Given the description of an element on the screen output the (x, y) to click on. 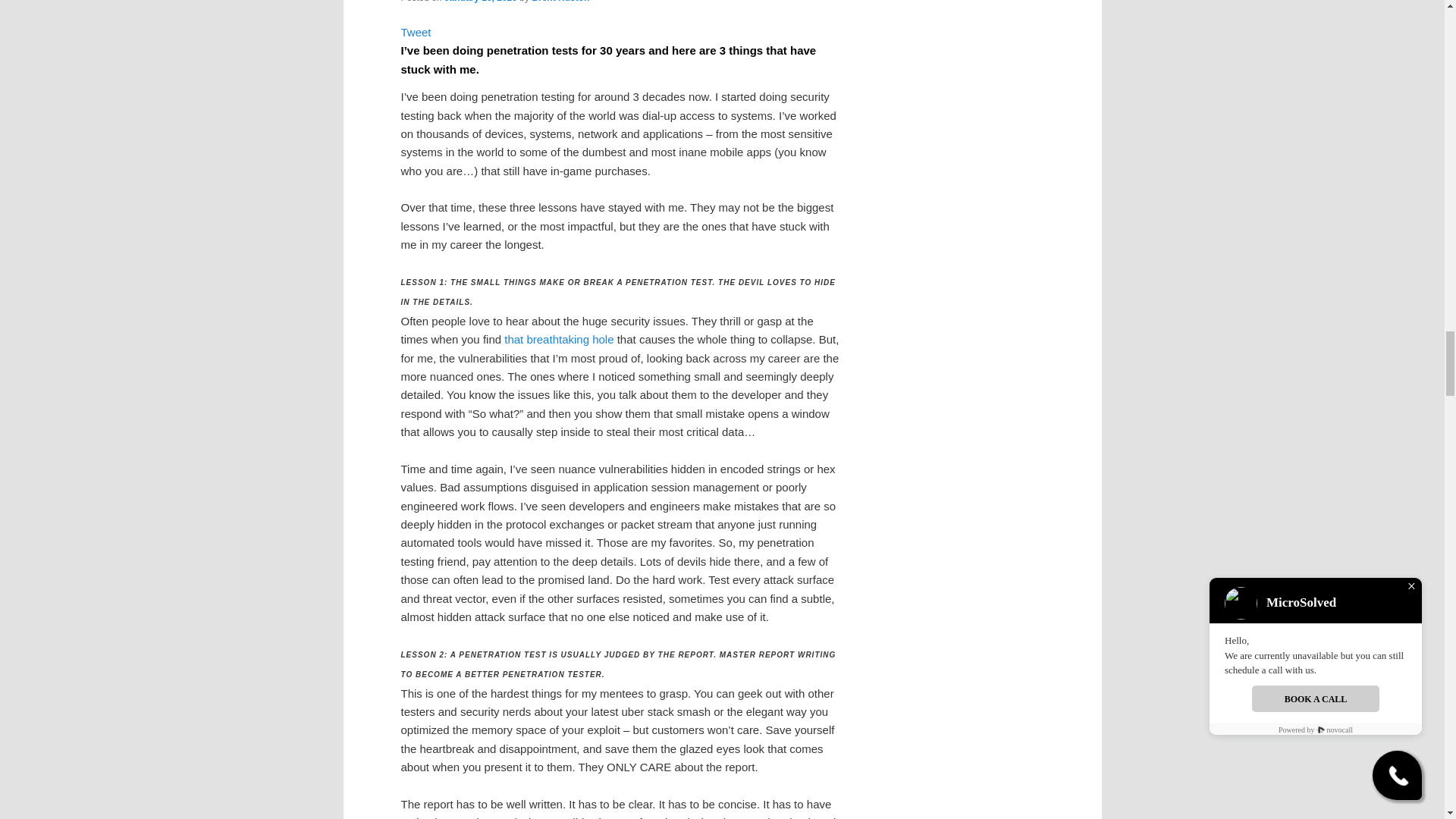
View all posts by Brent Huston (560, 1)
9:19 am (480, 1)
